Given the description of an element on the screen output the (x, y) to click on. 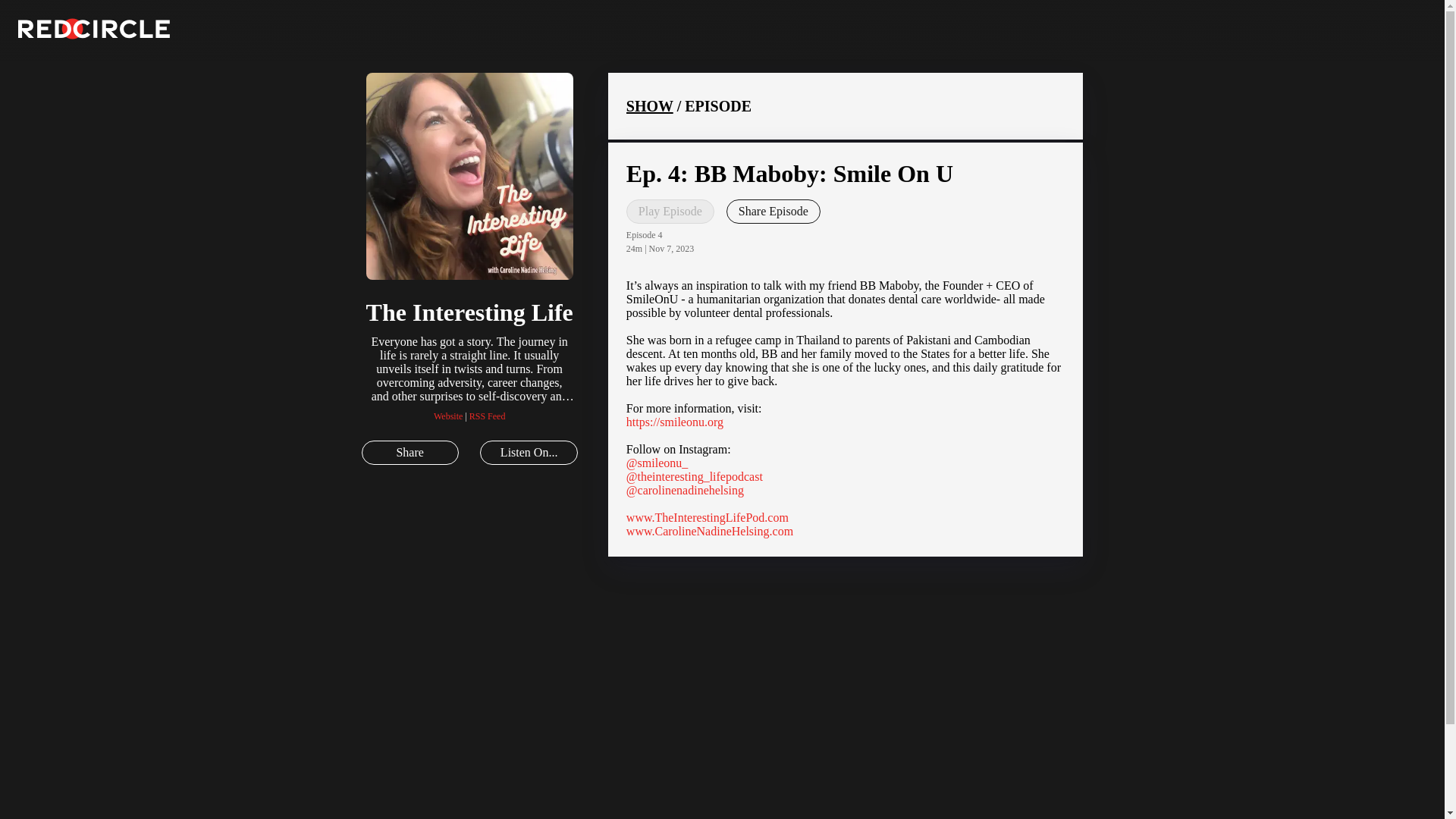
RSS Feed (486, 416)
www.CarolineNadineHelsing.com (709, 530)
Website (448, 416)
Share (409, 452)
Listen On... (528, 452)
www.TheInterestingLifePod.com (707, 517)
Share Episode (773, 211)
Play Episode (670, 211)
SHOW (649, 105)
